Given the description of an element on the screen output the (x, y) to click on. 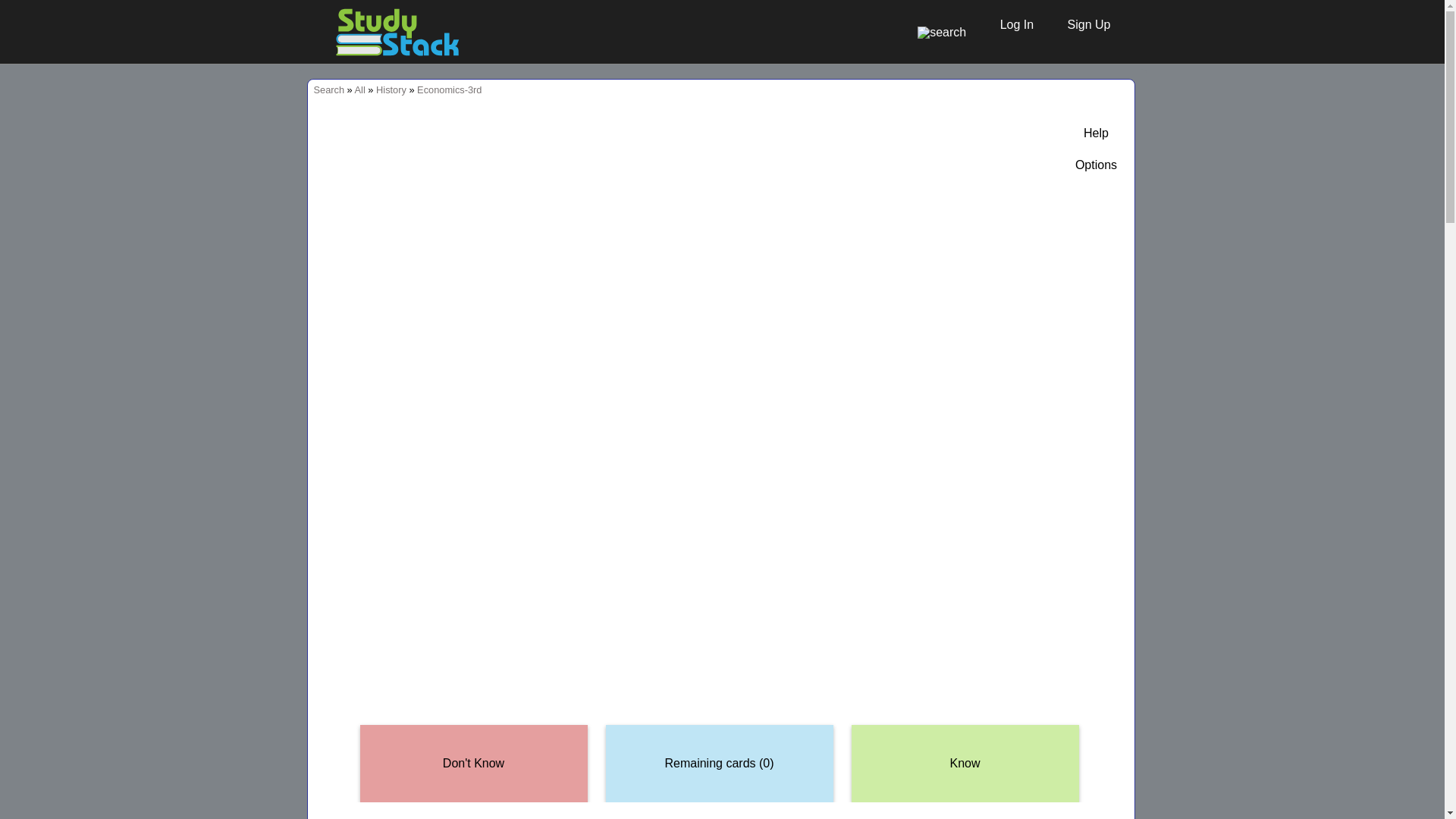
Click here or press right arrow if you know the card (964, 763)
Show options (1096, 165)
Economics-3rd (448, 89)
Show helpful tips (1096, 133)
Click here or press left arrow if you do not know the card (472, 763)
Search (329, 89)
Sign Up (1081, 24)
History (390, 89)
All (360, 89)
